Given the description of an element on the screen output the (x, y) to click on. 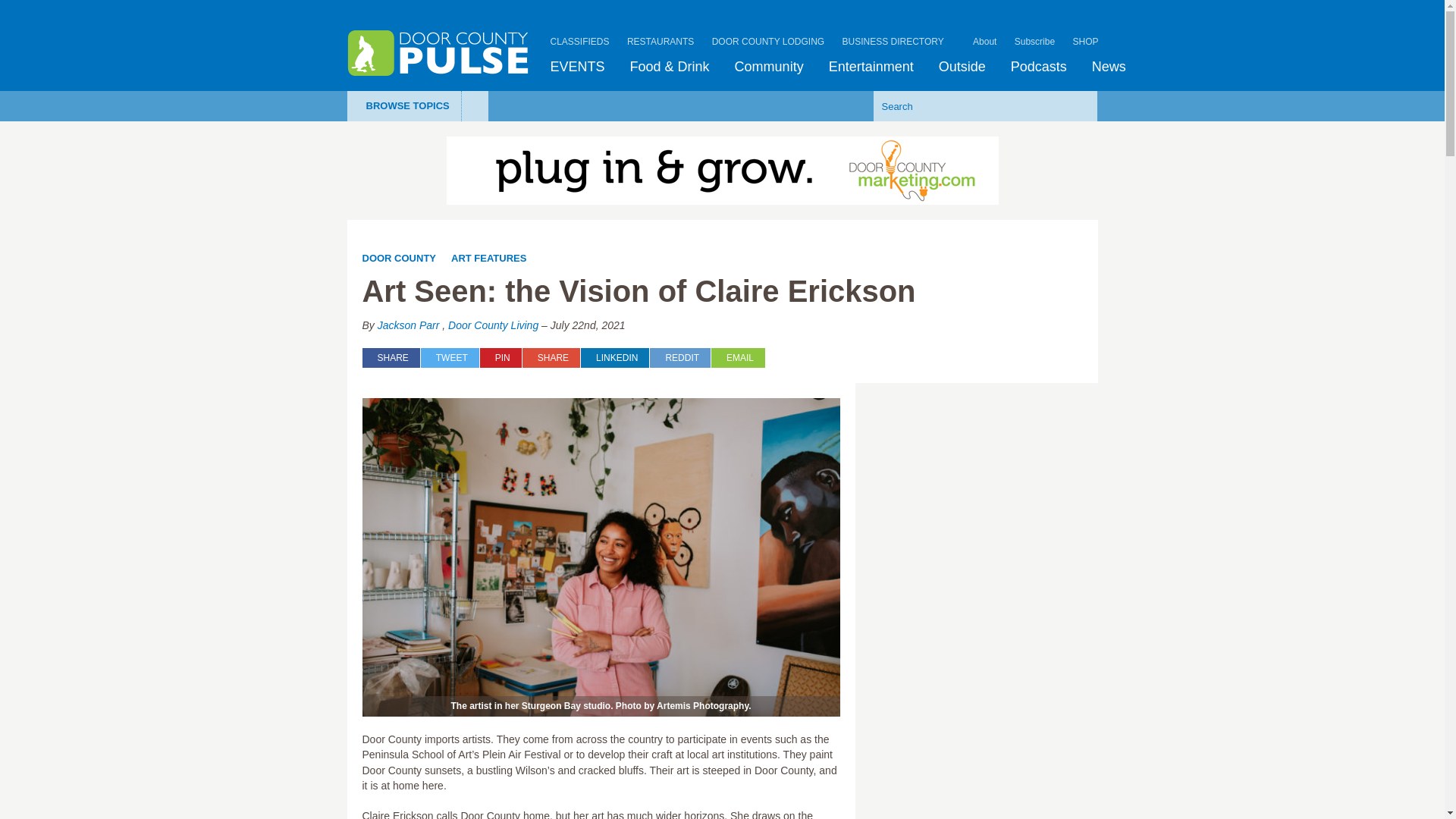
Entertainment (871, 66)
Community (768, 66)
Search for: (962, 105)
EVENTS (577, 66)
Posts by Jackson Parr (408, 325)
Door County Pulse (437, 53)
Outside (961, 66)
